Given the description of an element on the screen output the (x, y) to click on. 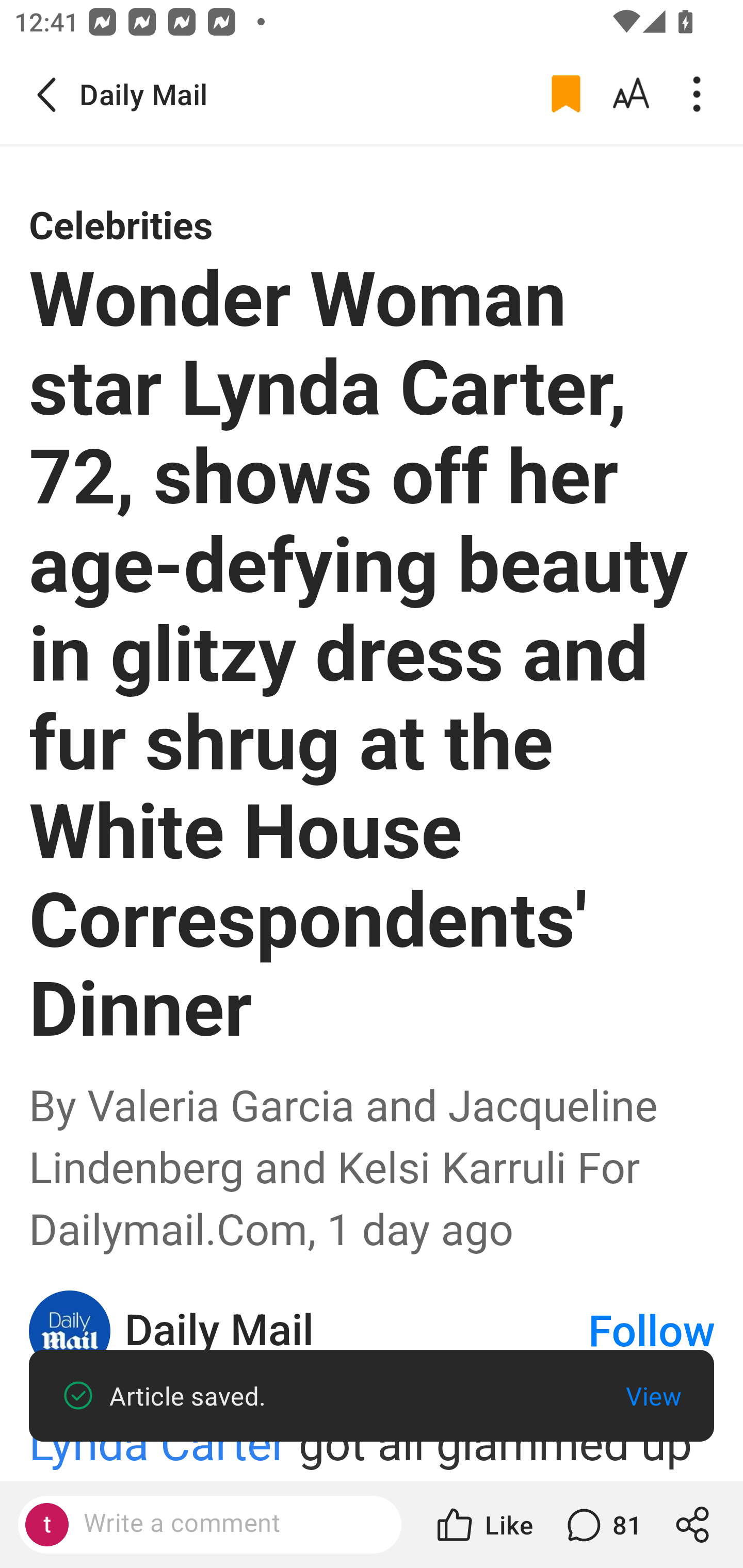
Daily (70, 1330)
Daily Mail (355, 1331)
Follow (651, 1331)
View (653, 1395)
Like (483, 1524)
81 (601, 1524)
Write a comment (209, 1524)
Write a comment (226, 1523)
